Given the description of an element on the screen output the (x, y) to click on. 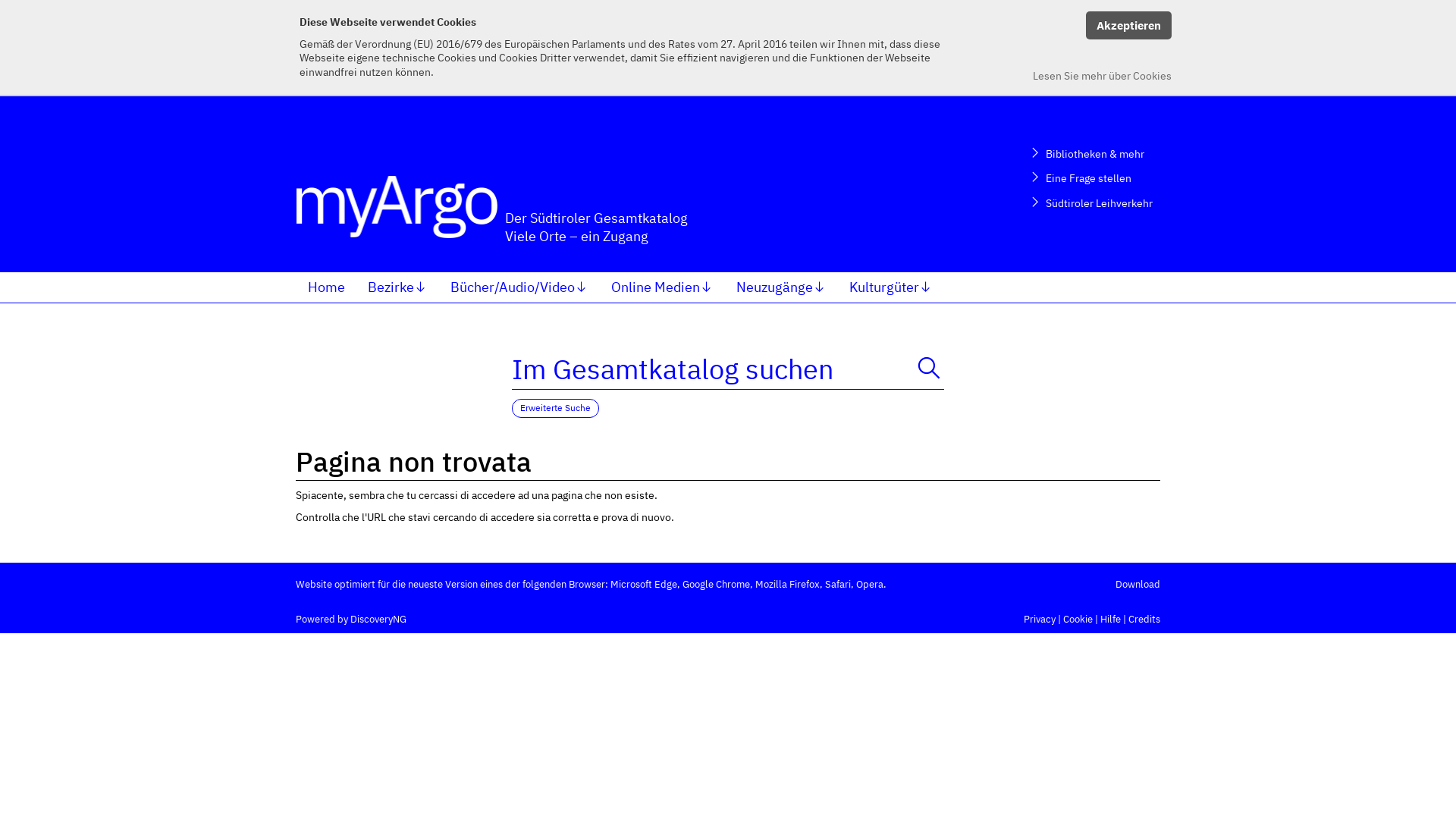
DiscoveryNG Element type: text (378, 618)
Bibliotheken & mehr Element type: text (1089, 153)
0 Element type: text (530, 19)
Bezirke Element type: text (397, 287)
Hilfe Element type: text (1058, 16)
Erweiterte Suche Element type: text (555, 407)
Online Medien Element type: text (661, 287)
Eine Frage stellen Element type: text (1089, 177)
Cookie Element type: text (1077, 618)
Credits Element type: text (1144, 618)
Deutsch Element type: text (1126, 16)
Download Element type: text (1137, 583)
0 Element type: text (486, 19)
Login Element type: text (333, 19)
Home Element type: text (326, 287)
Registrierung Element type: text (421, 19)
Hilfe Element type: text (1110, 618)
Akzeptieren Element type: text (1128, 25)
Privacy Element type: text (1039, 618)
